Given the description of an element on the screen output the (x, y) to click on. 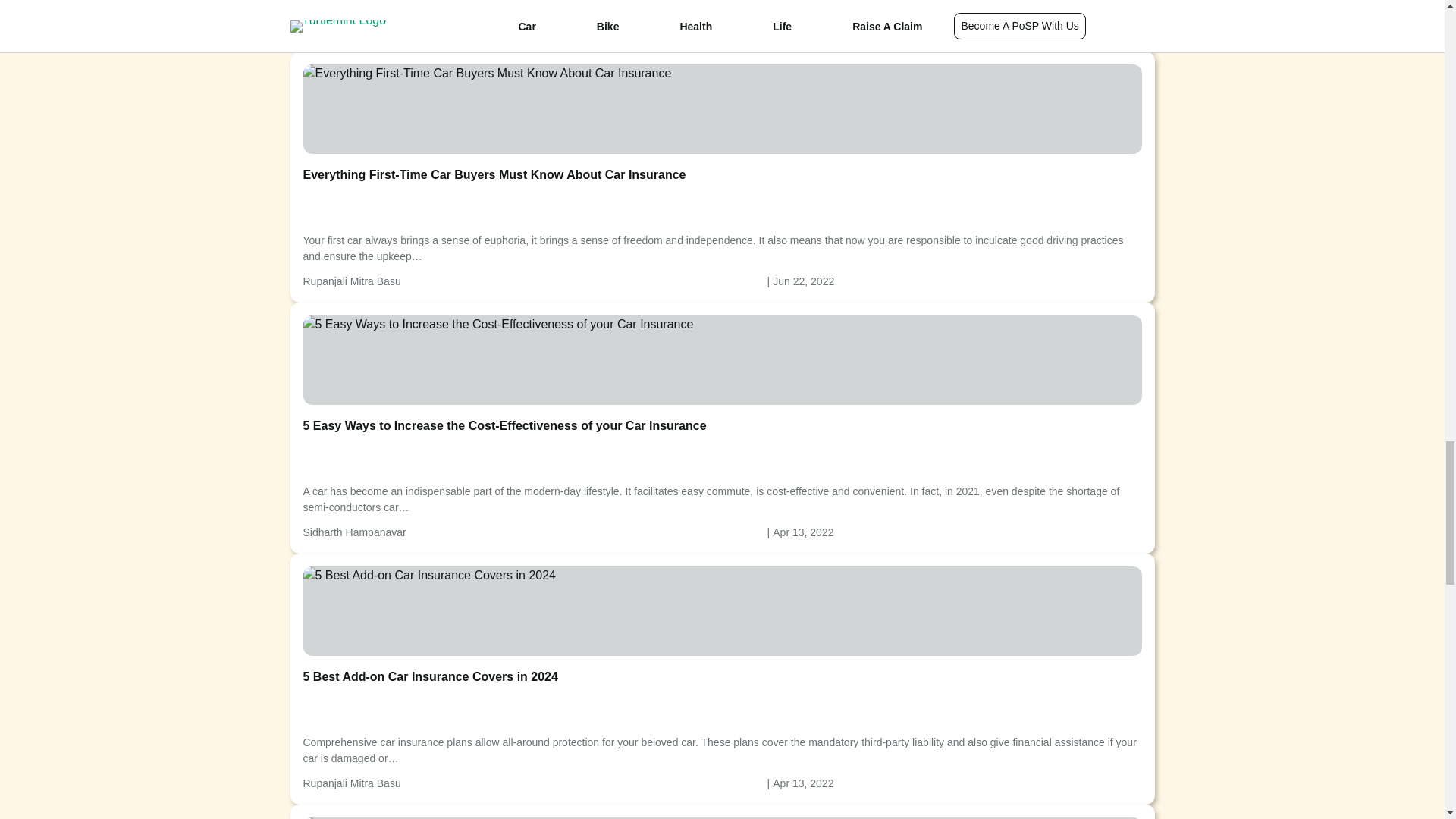
6 Tips On How College Kids Can Lower Their Car Insurance (721, 25)
Everything You Need To Know About Electric Car Insurance (721, 811)
5 Best Add-on Car Insurance Covers in 2024 (429, 575)
